Given the description of an element on the screen output the (x, y) to click on. 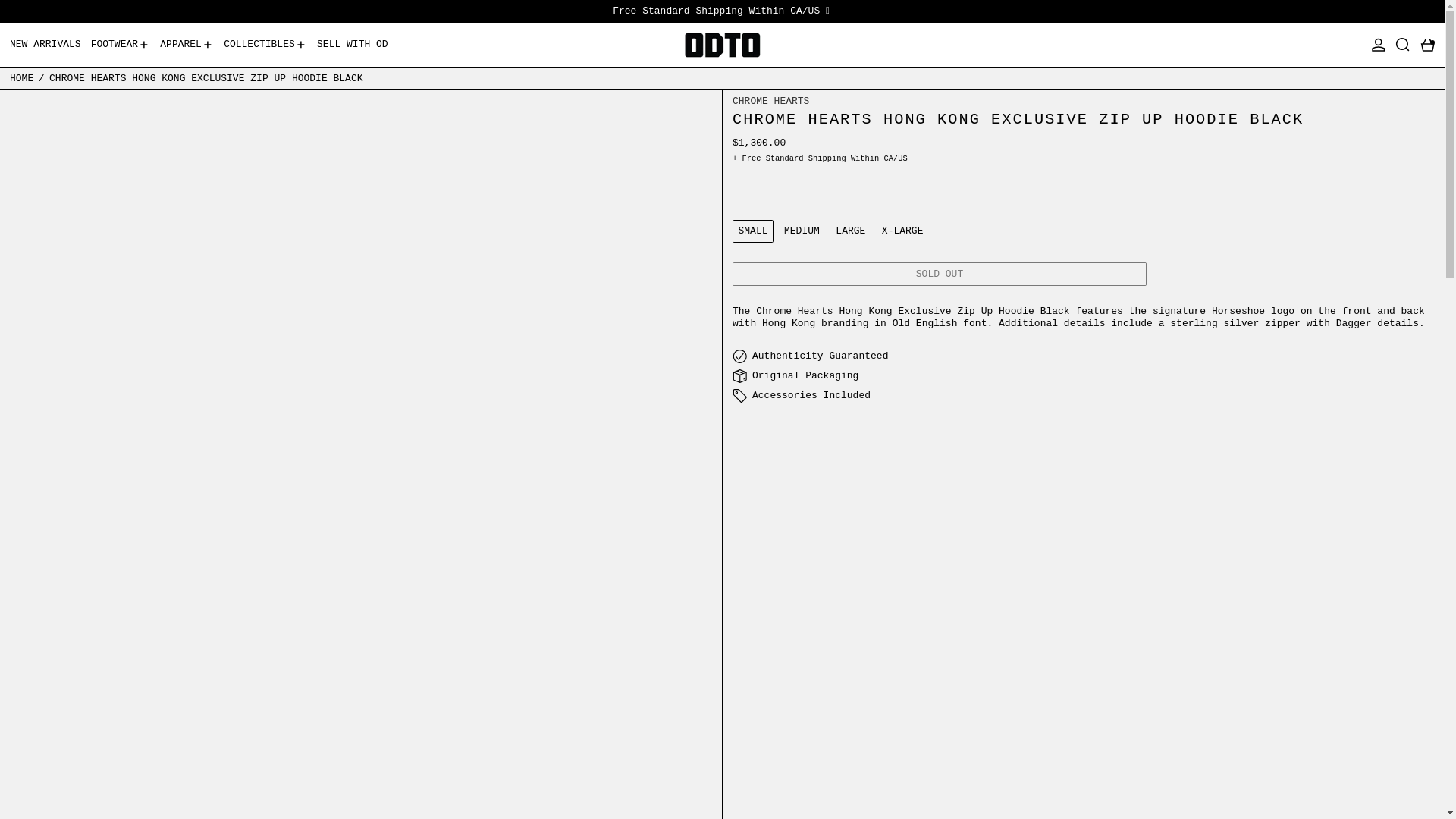
NEW ARRIVALS (45, 44)
HOME (21, 78)
FOOTWEAR (120, 44)
APPAREL (187, 44)
